Given the description of an element on the screen output the (x, y) to click on. 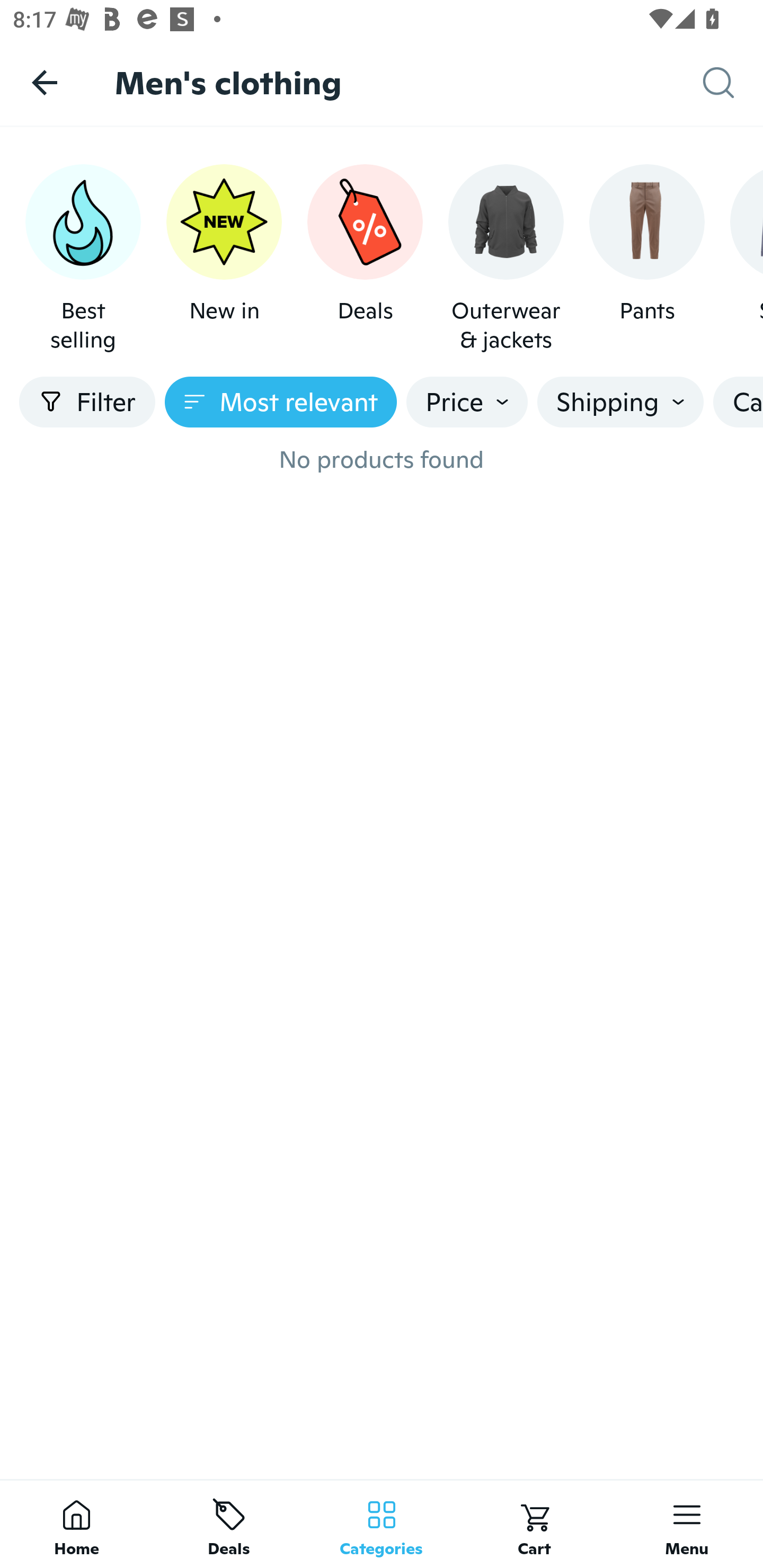
Navigate up (44, 82)
Search (732, 82)
Best selling (83, 259)
New in (223, 259)
Deals (364, 259)
Outerwear & jackets (505, 259)
Pants (647, 259)
Filter (86, 402)
Most relevant (280, 402)
Price (466, 402)
Shipping (620, 402)
Home (76, 1523)
Deals (228, 1523)
Categories (381, 1523)
Cart (533, 1523)
Menu (686, 1523)
